Given the description of an element on the screen output the (x, y) to click on. 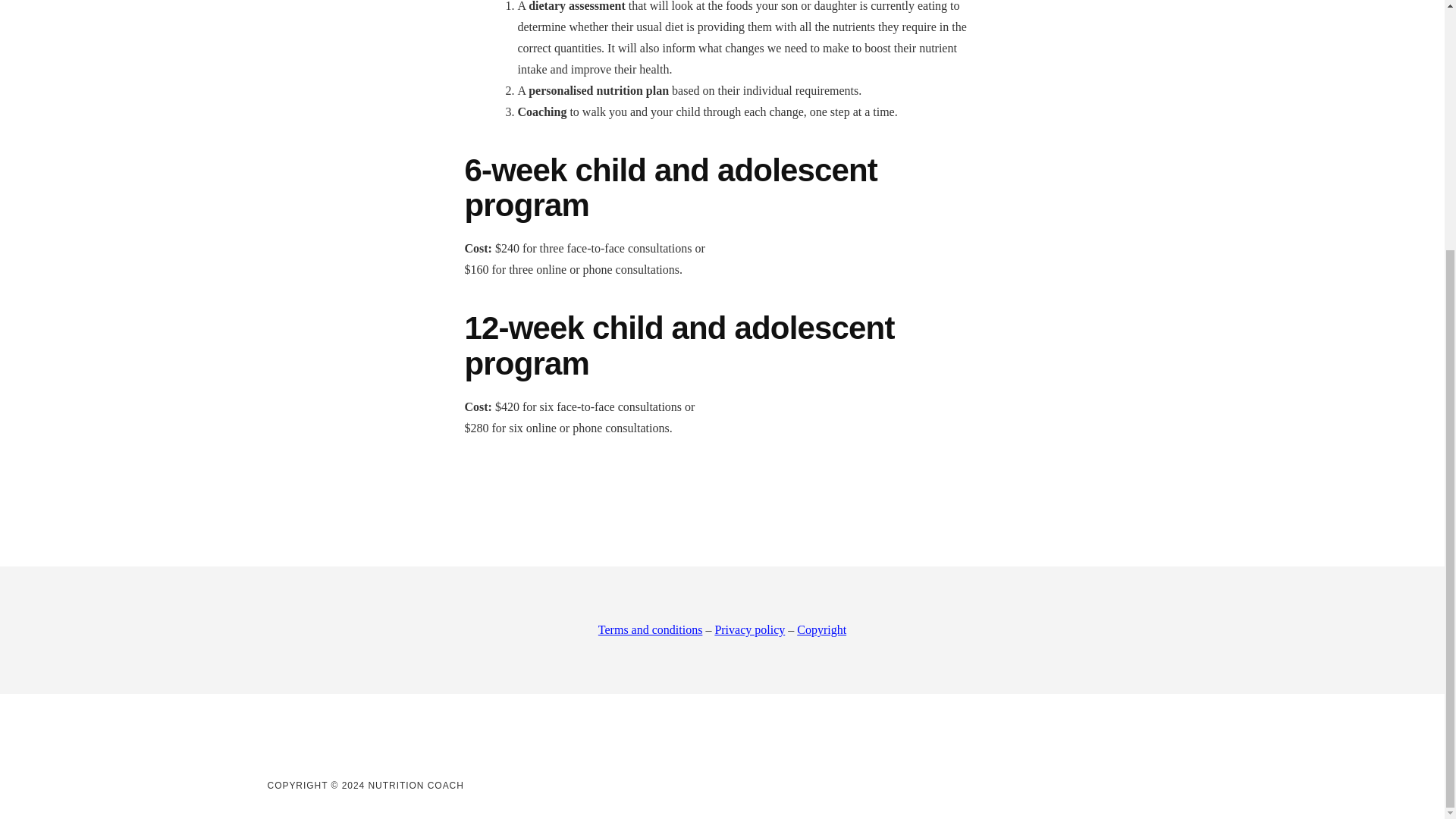
Terms and conditions (650, 629)
Privacy policy (749, 629)
Copyright (820, 629)
